Given the description of an element on the screen output the (x, y) to click on. 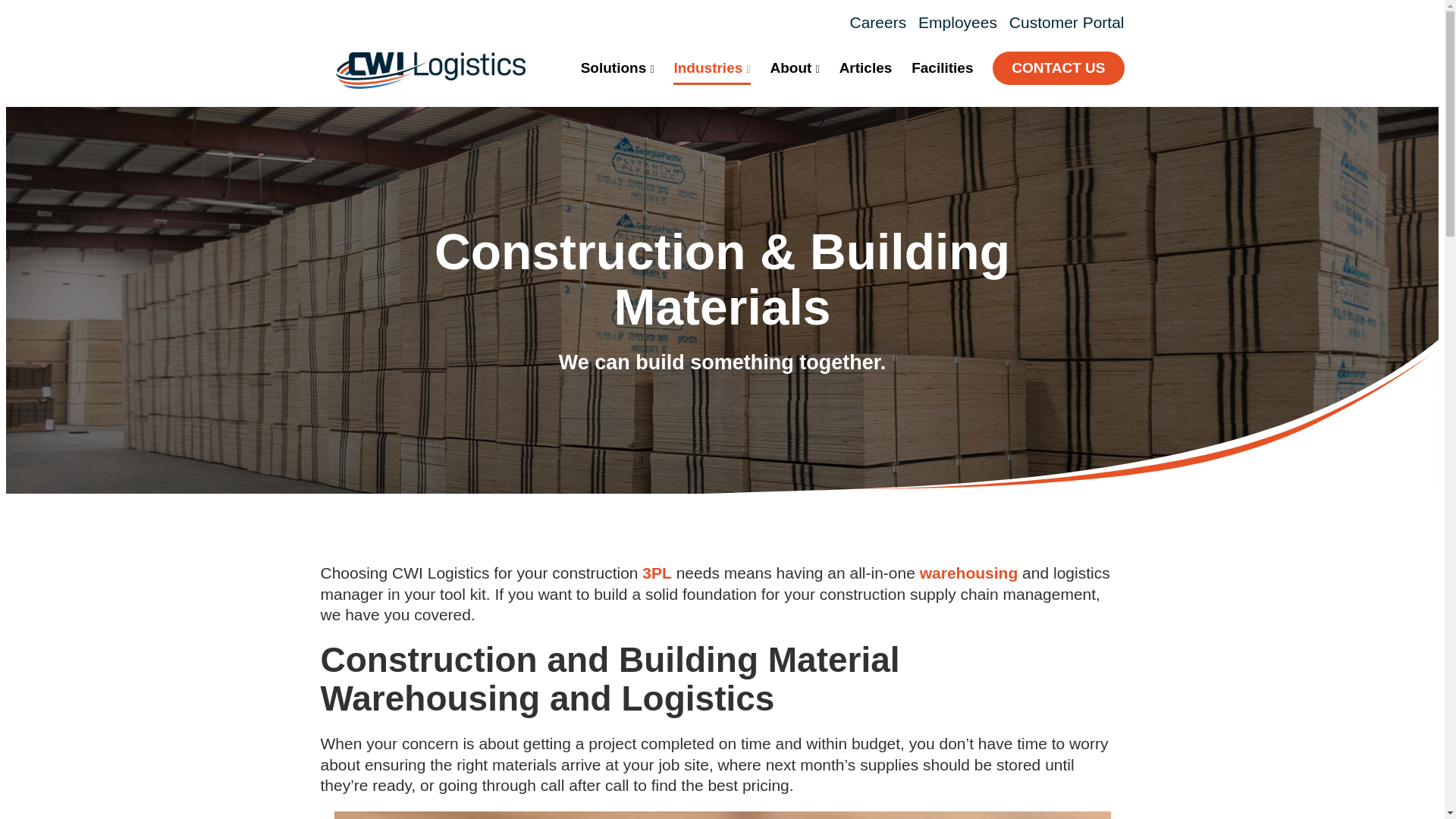
About (794, 69)
Careers (876, 22)
Employees (957, 22)
To Home (429, 82)
Customer Portal (1066, 22)
Industries (710, 69)
Solutions (616, 69)
